Given the description of an element on the screen output the (x, y) to click on. 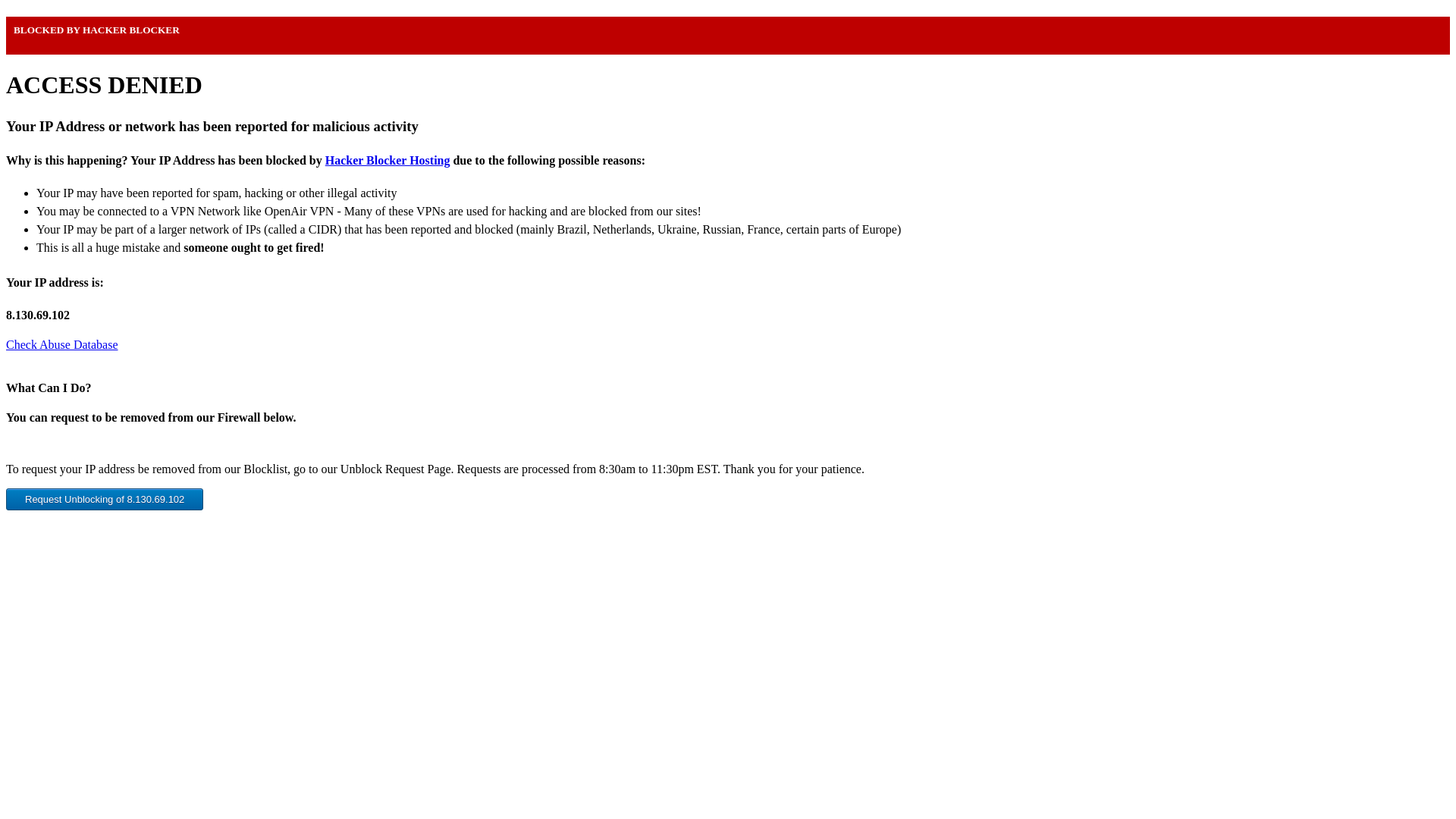
Hacker Blocker Hosting (386, 160)
Check Abuse Database (61, 344)
